Given the description of an element on the screen output the (x, y) to click on. 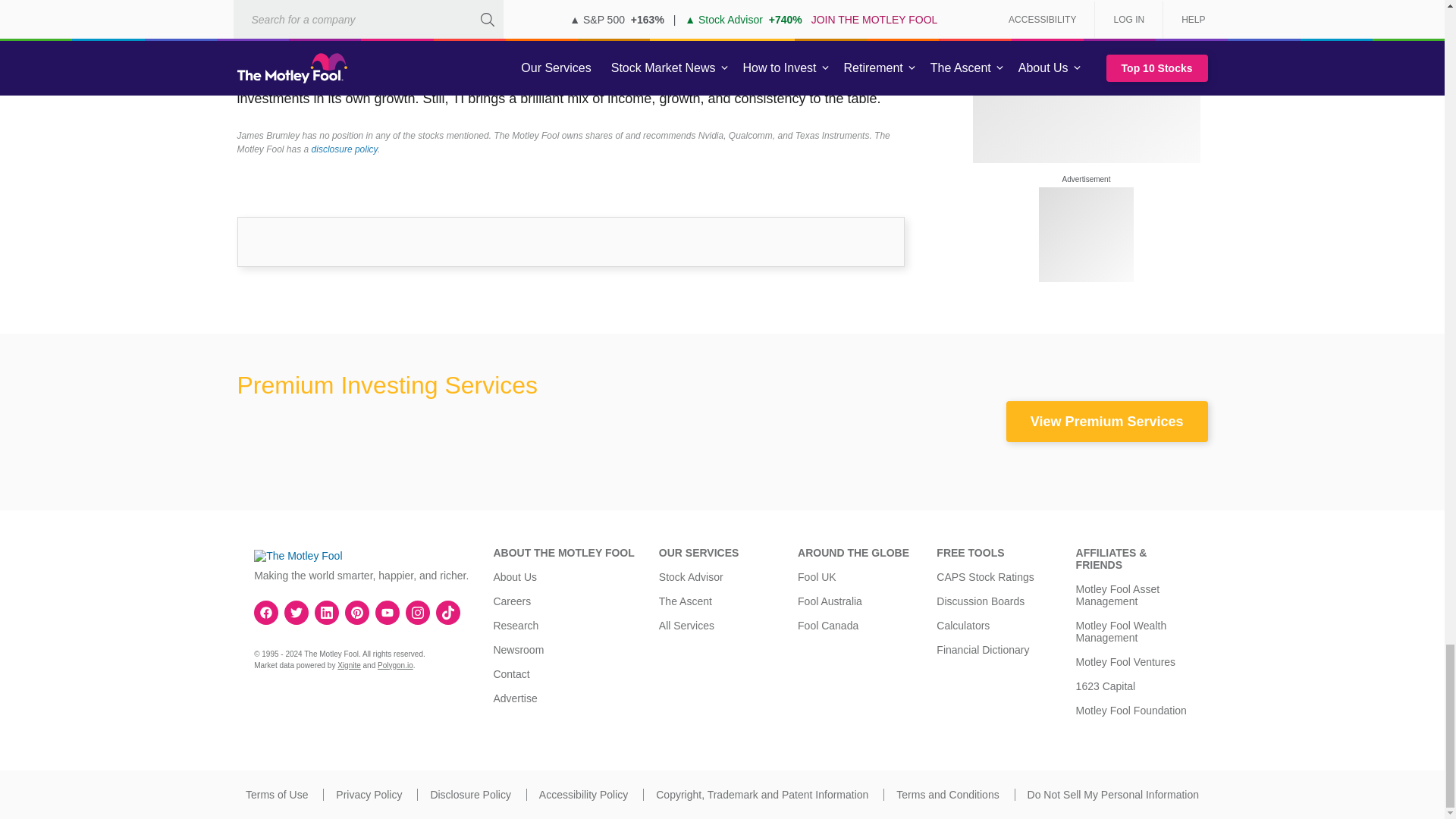
Do Not Sell My Personal Information. (1112, 794)
Terms and Conditions (947, 794)
Facebook (266, 612)
Disclosure Policy (470, 794)
Instagram (417, 612)
Copyright, Trademark and Patent Information (761, 794)
Pinterest (356, 612)
Privacy Policy (368, 794)
TikTok (448, 612)
Twitter (295, 612)
Accessibility Policy (582, 794)
Terms of Use (276, 794)
LinkedIn (326, 612)
YouTube (387, 612)
